Given the description of an element on the screen output the (x, y) to click on. 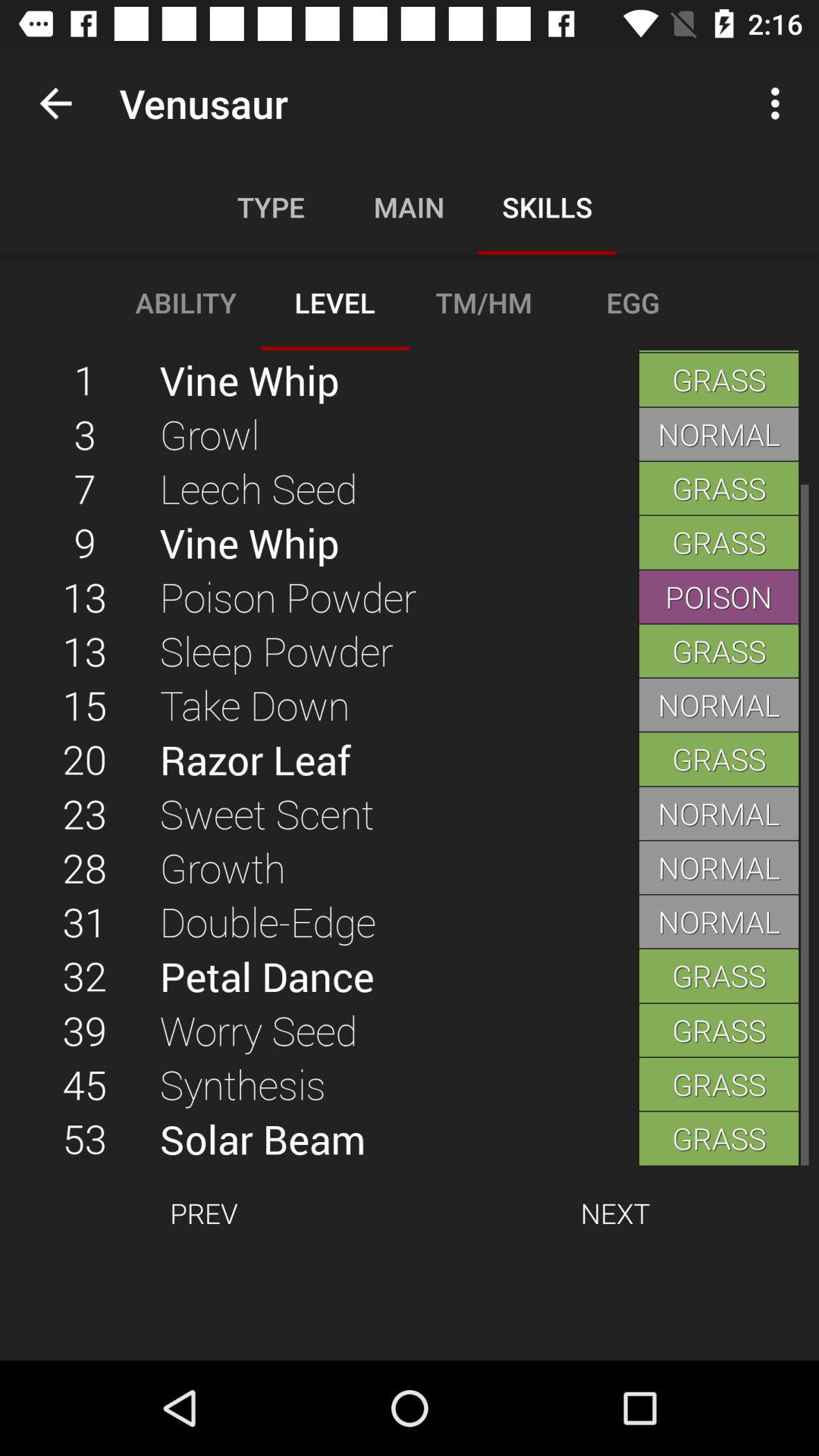
select the double-edge item (399, 921)
